Given the description of an element on the screen output the (x, y) to click on. 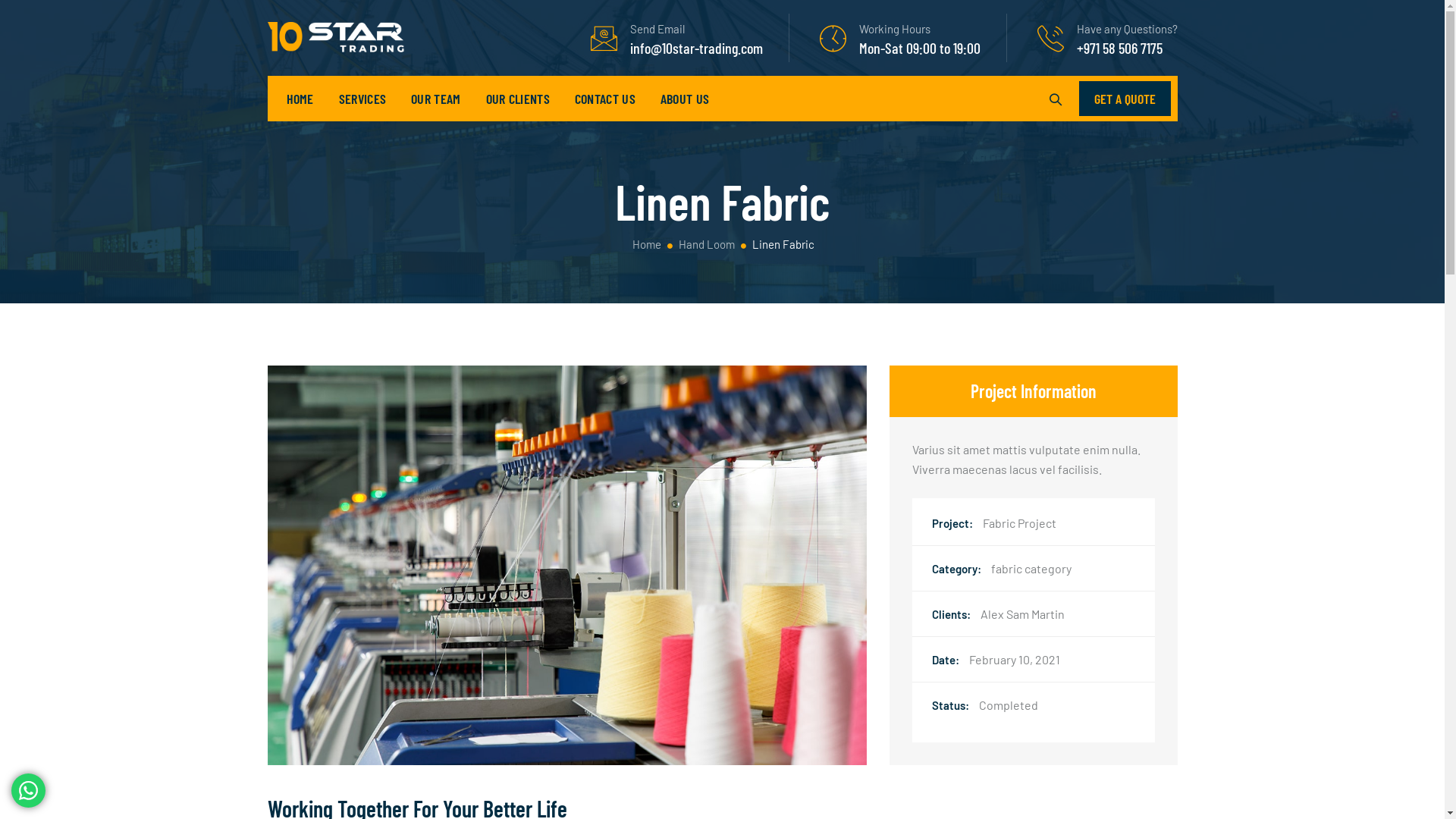
+971 58 506 7175 Element type: text (1119, 46)
10 Star Trading Element type: hover (336, 37)
info@10star-trading.com Element type: text (695, 46)
 Home Element type: text (645, 244)
OUR CLIENTS Element type: text (517, 98)
ABOUT US Element type: text (684, 98)
CONTACT US Element type: text (604, 98)
Hand Loom Element type: text (706, 244)
GET A QUOTE Element type: text (1124, 98)
HOME Element type: text (299, 98)
OUR TEAM Element type: text (435, 98)
SERVICES Element type: text (361, 98)
